Given the description of an element on the screen output the (x, y) to click on. 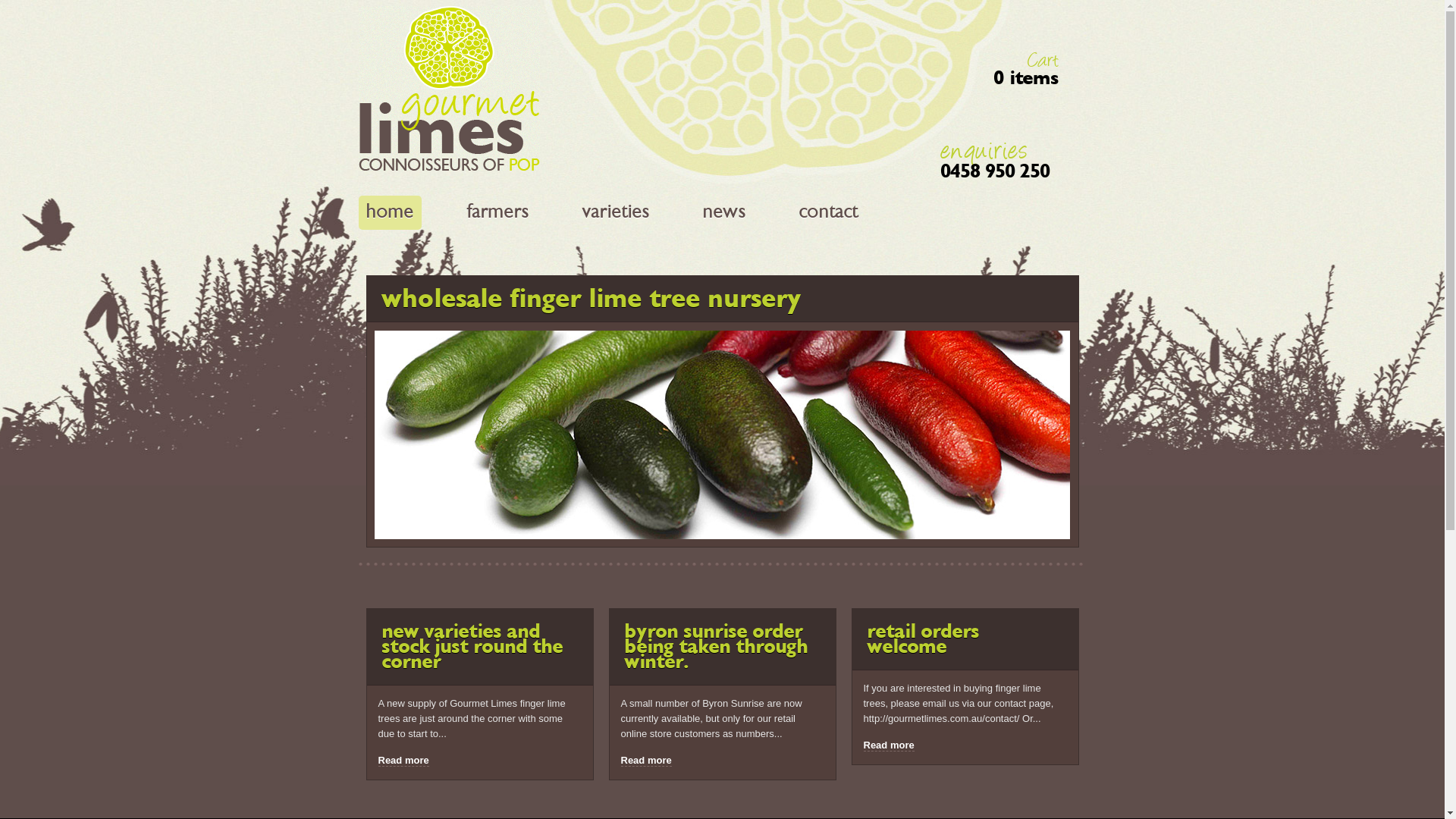
varieties Element type: text (615, 210)
Read more Element type: text (402, 760)
0 items Element type: text (1025, 77)
Read more Element type: text (645, 760)
home Element type: text (389, 210)
news Element type: text (723, 210)
farmers Element type: text (498, 210)
Gourmet Limes Element type: hover (448, 167)
Read more Element type: text (887, 745)
contact Element type: text (828, 210)
0458 950 250 Element type: text (994, 171)
